Given the description of an element on the screen output the (x, y) to click on. 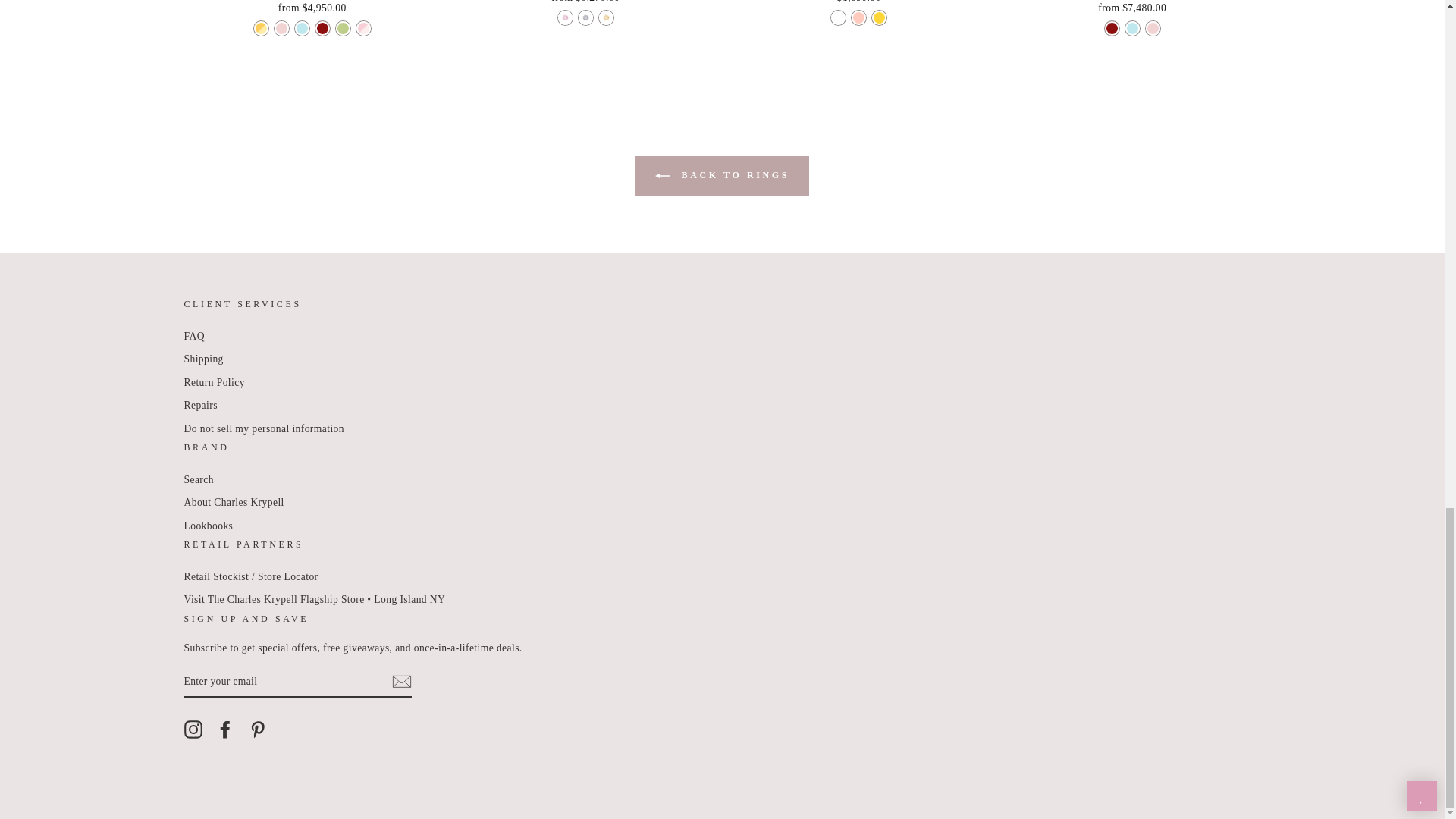
Charles Krypell Fine Jewelry on Pinterest (257, 729)
Charles Krypell Fine Jewelry on Facebook (224, 729)
Charles Krypell Fine Jewelry on Instagram (192, 729)
